Given the description of an element on the screen output the (x, y) to click on. 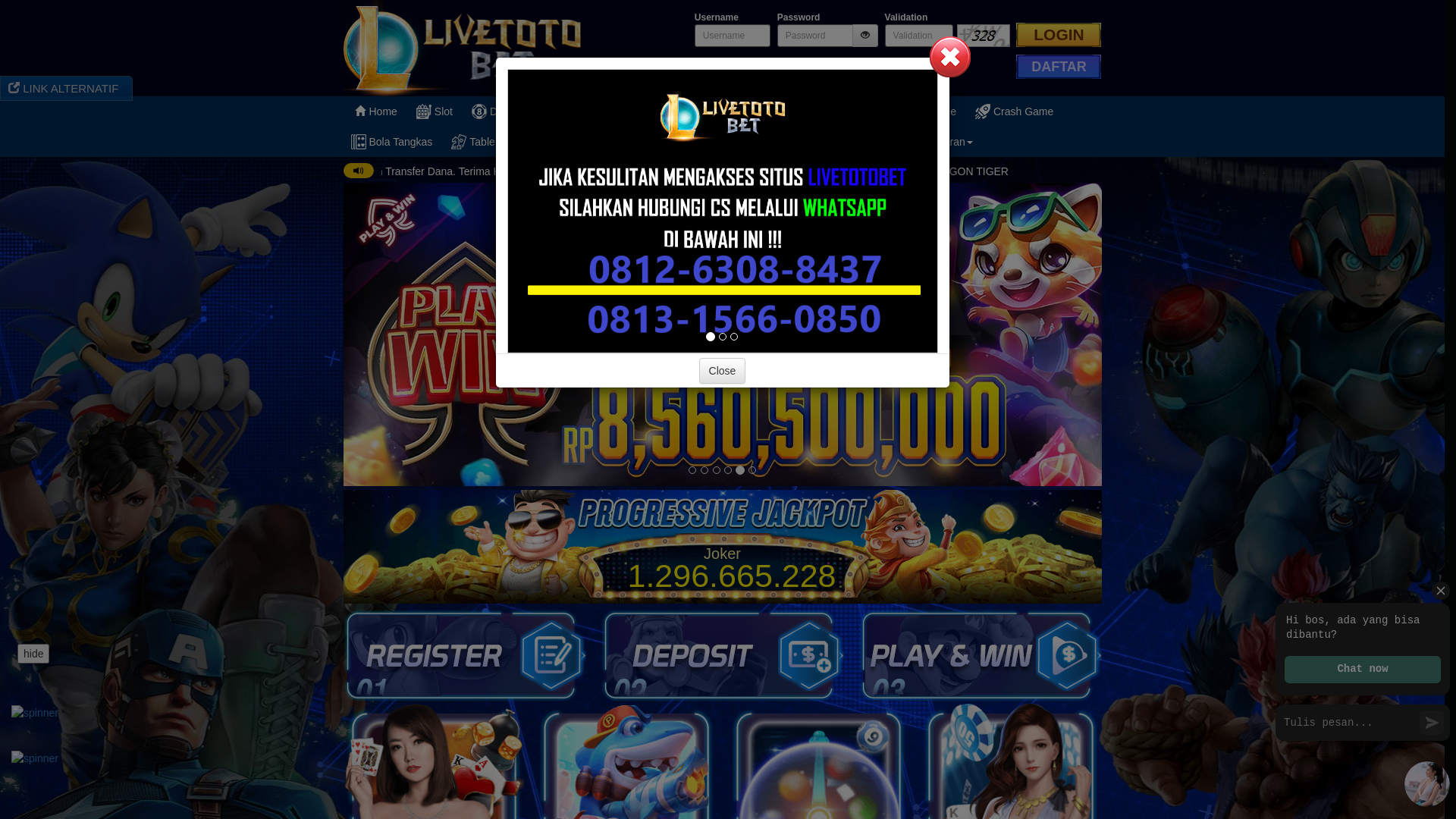
Crash Game Element type: text (1015, 111)
Close Element type: text (722, 370)
Slot Element type: text (436, 111)
Table Game Element type: text (490, 141)
LOGIN Element type: text (1058, 34)
hide Element type: text (33, 653)
E-Sports Element type: text (857, 111)
DD & Togel Element type: text (509, 111)
Buku Mimpi Element type: text (846, 141)
Bola Tangkas Element type: text (392, 141)
DOWNLOAD Element type: text (755, 141)
Data Keluaran Element type: text (934, 141)
Arcade Element type: text (932, 111)
Live Casino Element type: text (771, 111)
Home Element type: text (374, 111)
DAFTAR Element type: text (1058, 66)
Sports Element type: text (690, 111)
Link Alternatif Element type: text (652, 141)
number Element type: hover (918, 35)
Sabung Ayam Element type: text (606, 111)
Event Element type: text (570, 141)
